Given the description of an element on the screen output the (x, y) to click on. 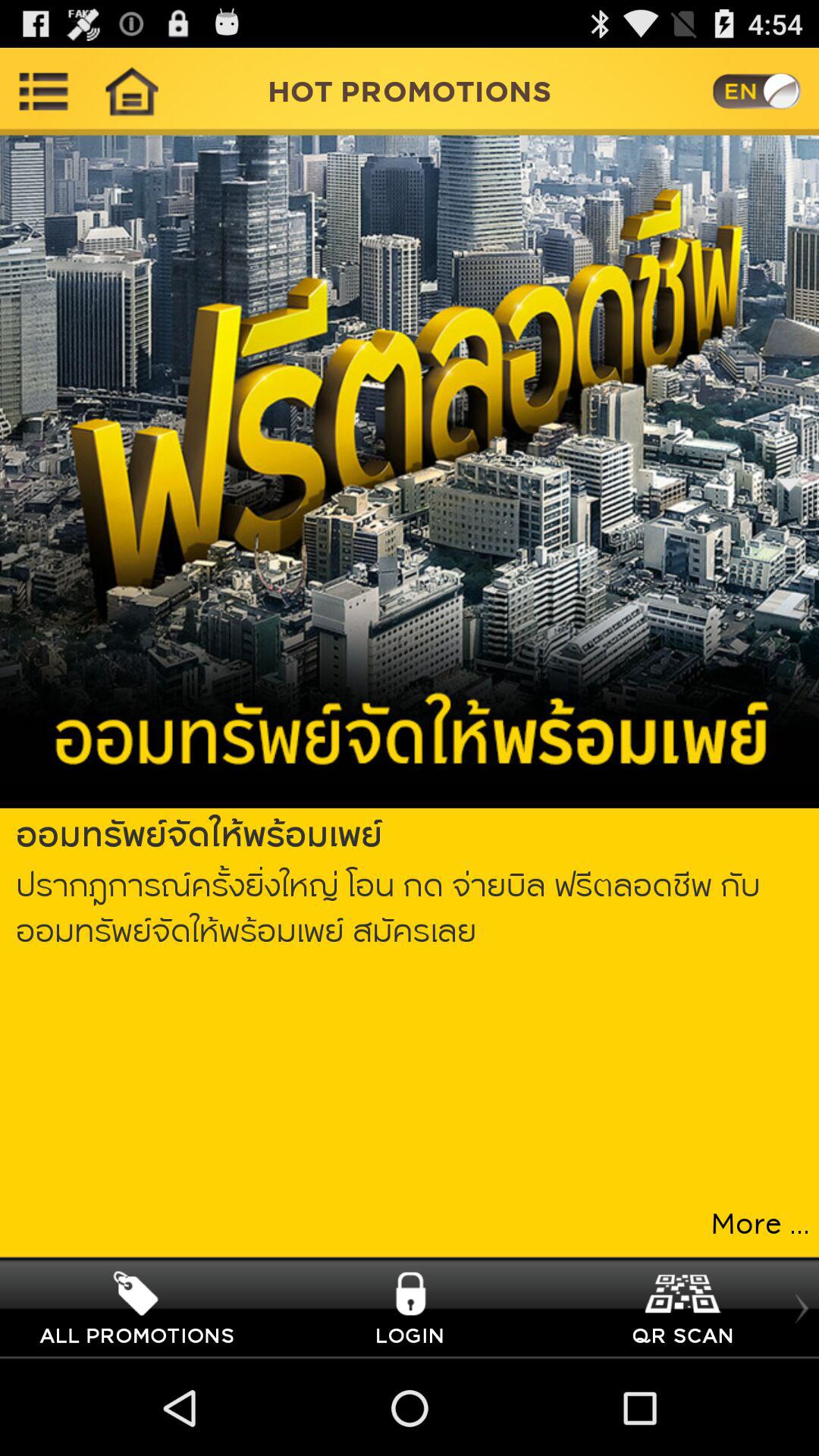
home page icon (131, 91)
